Given the description of an element on the screen output the (x, y) to click on. 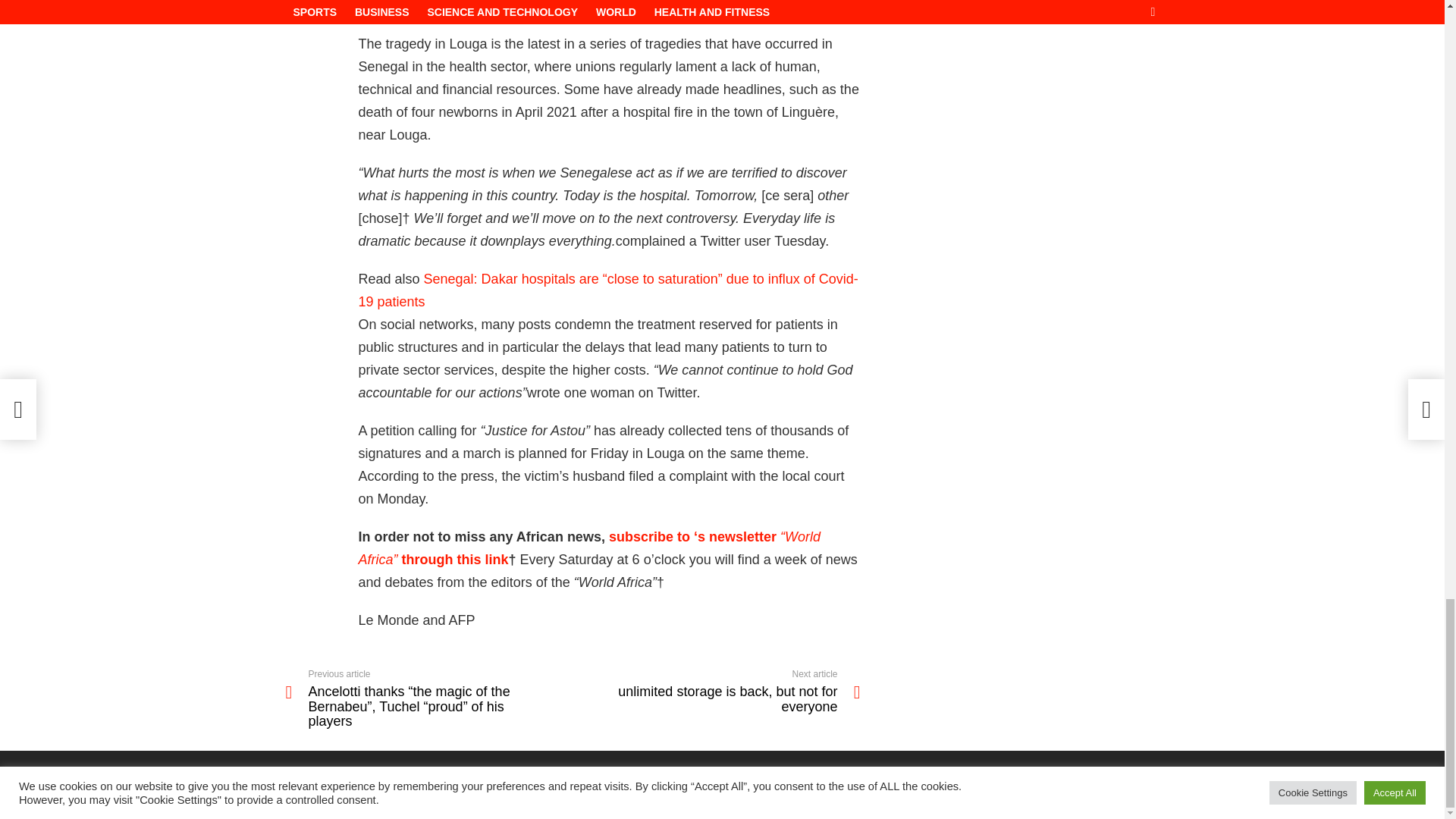
cookies (1065, 800)
Cookie Policy (899, 800)
cookies privacy policy (989, 800)
Home (1146, 800)
FAQ (716, 691)
